Given the description of an element on the screen output the (x, y) to click on. 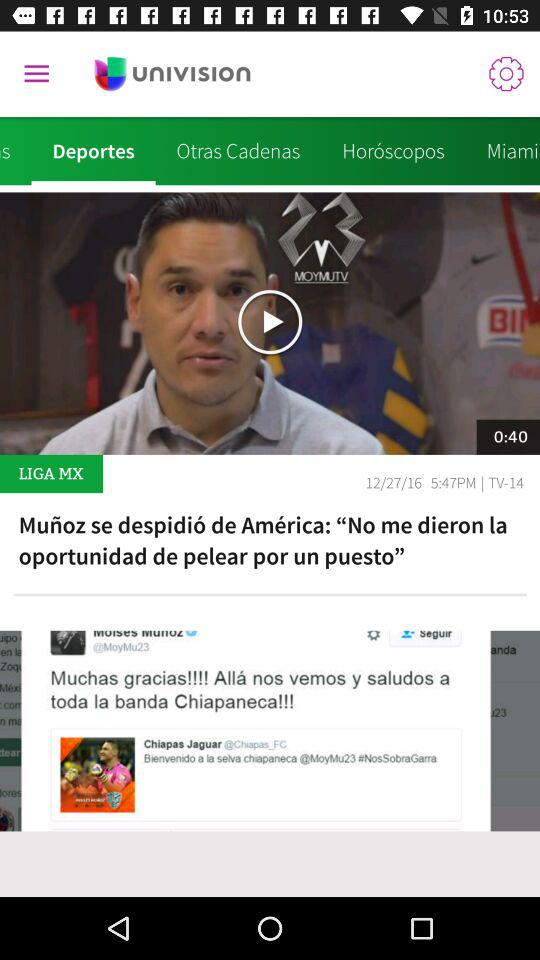
select the icon above the miami (506, 73)
